Given the description of an element on the screen output the (x, y) to click on. 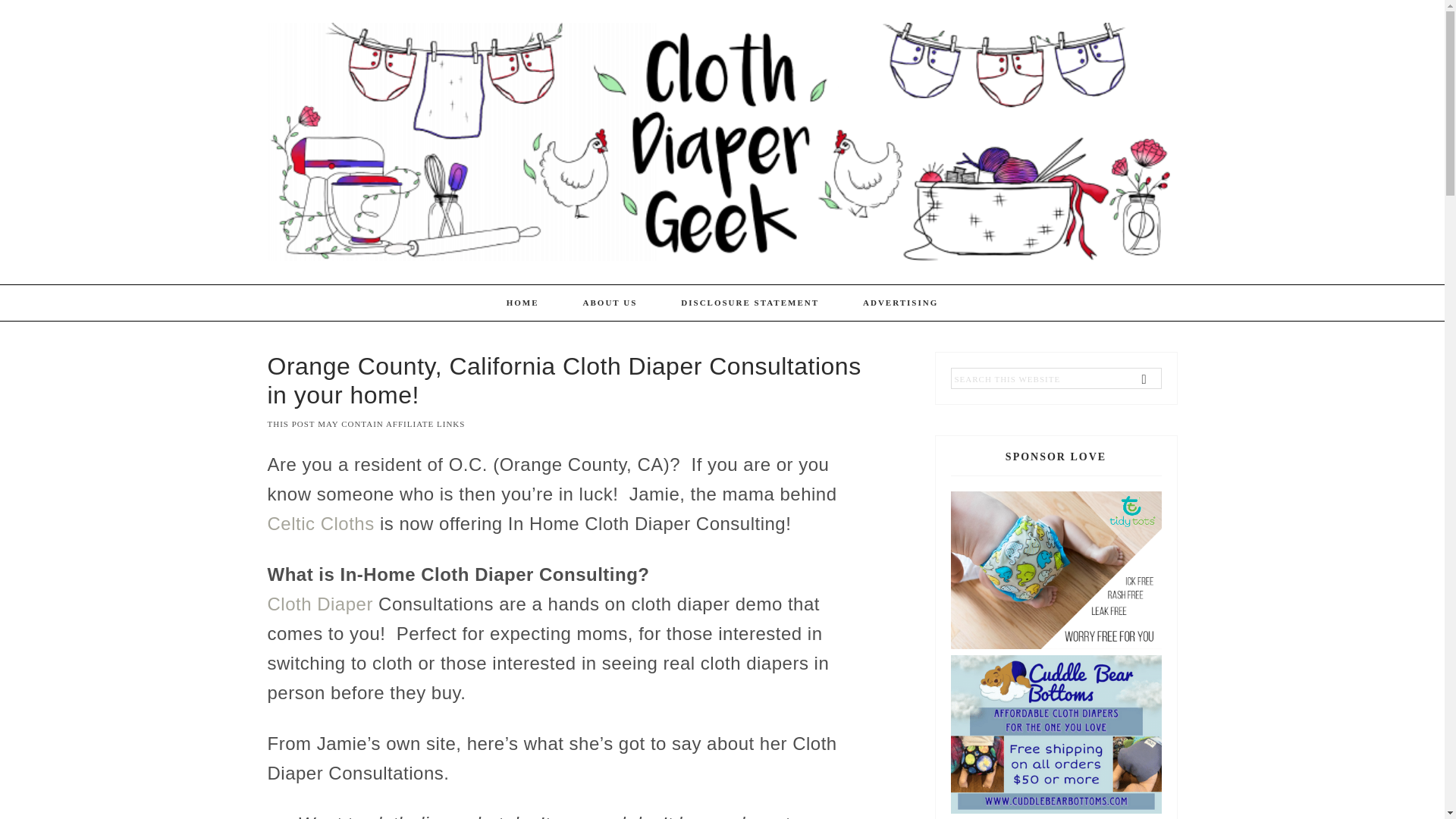
Celtic Cloths (320, 523)
DISCLOSURE STATEMENT (750, 302)
HOME (522, 302)
ABOUT US (610, 302)
Cloth Diaper (319, 603)
ADVERTISING (900, 302)
